Given the description of an element on the screen output the (x, y) to click on. 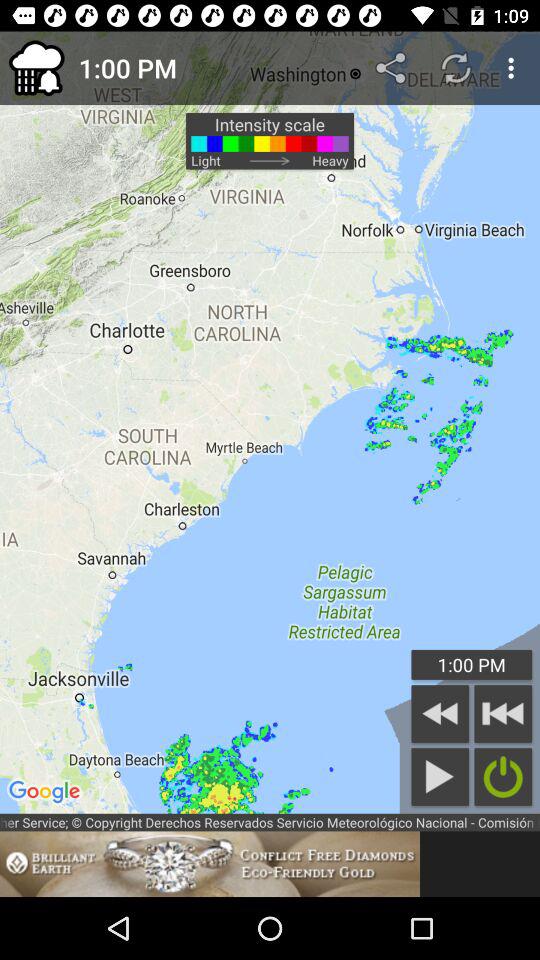
go back (440, 713)
